Given the description of an element on the screen output the (x, y) to click on. 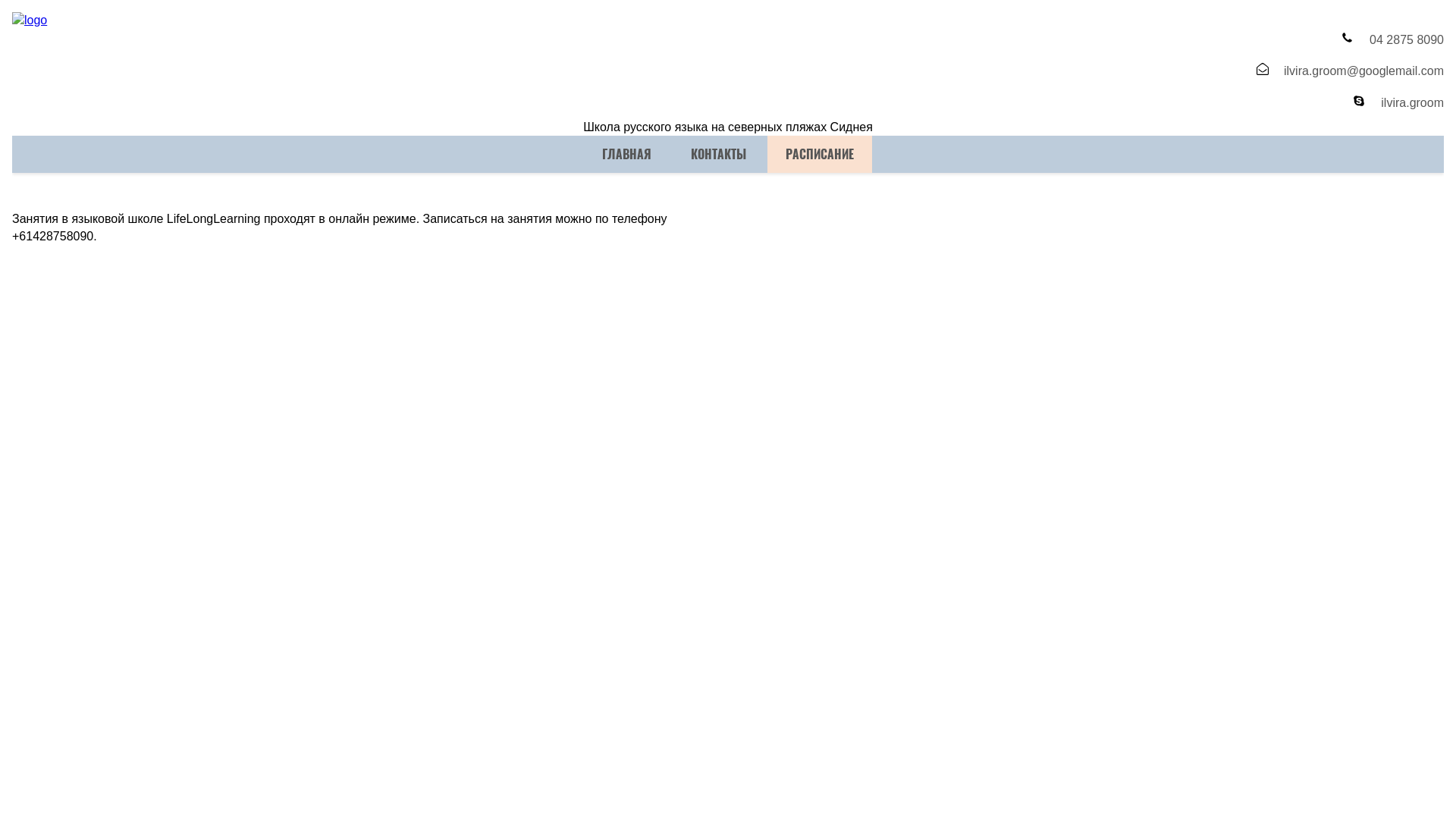
ilvira.groom Element type: text (1094, 103)
04 2875 8090 Element type: text (1094, 40)
ilvira.groom@googlemail.com Element type: text (1094, 71)
